Given the description of an element on the screen output the (x, y) to click on. 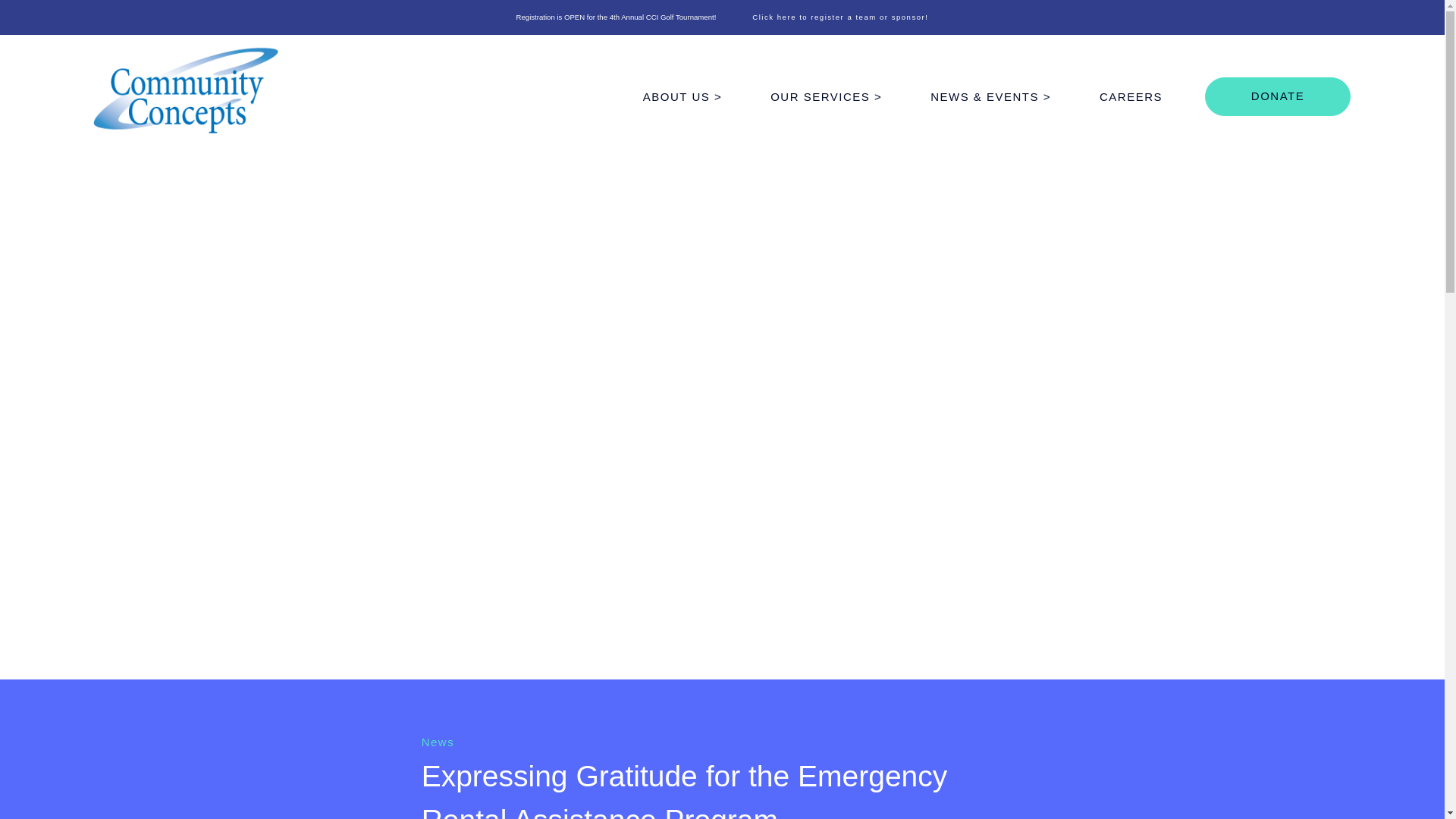
Click here to register a team or sponsor! (839, 17)
DONATE (1278, 96)
CAREERS (1131, 97)
